Given the description of an element on the screen output the (x, y) to click on. 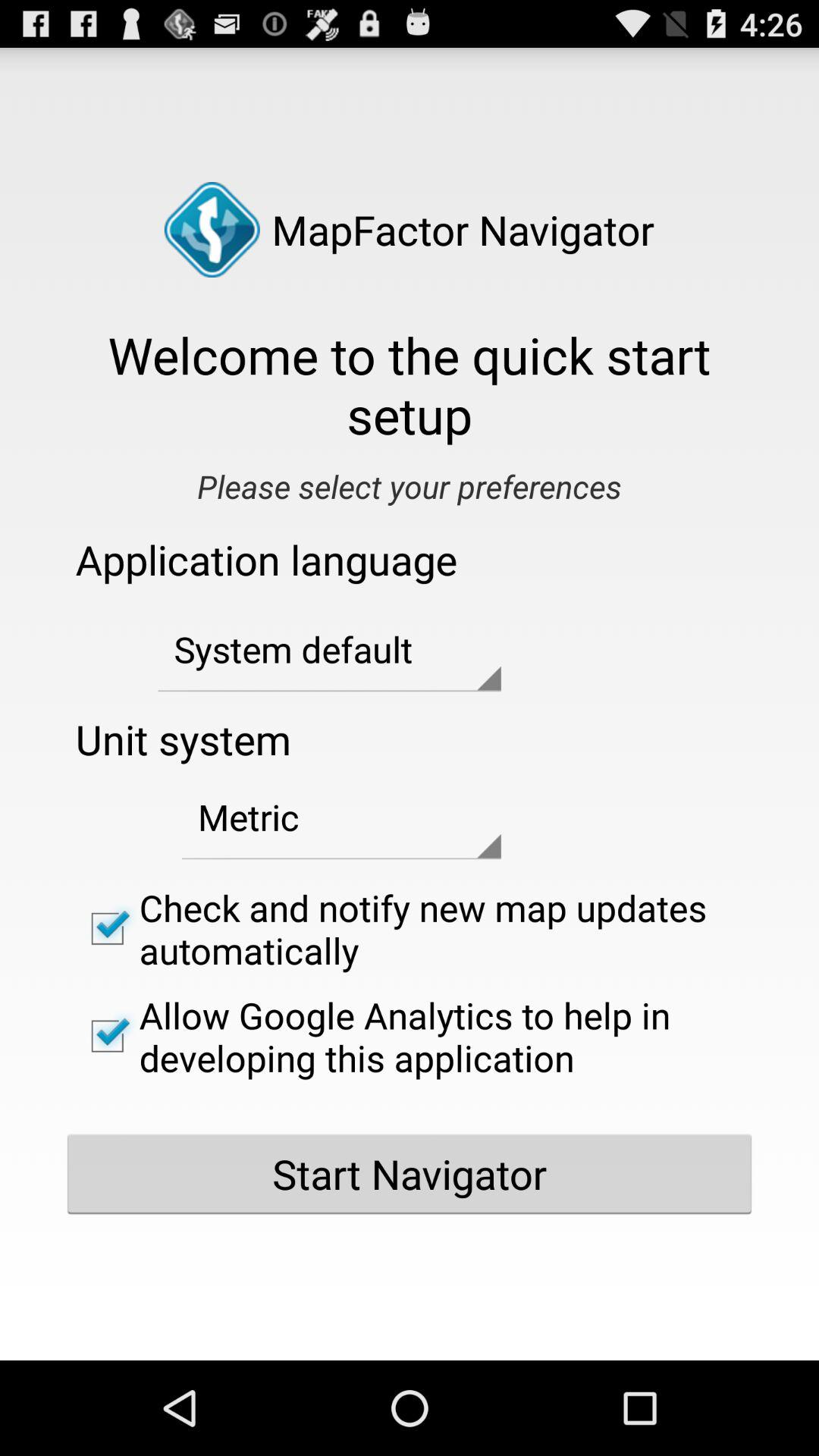
choose the button above start navigator item (409, 1036)
